Given the description of an element on the screen output the (x, y) to click on. 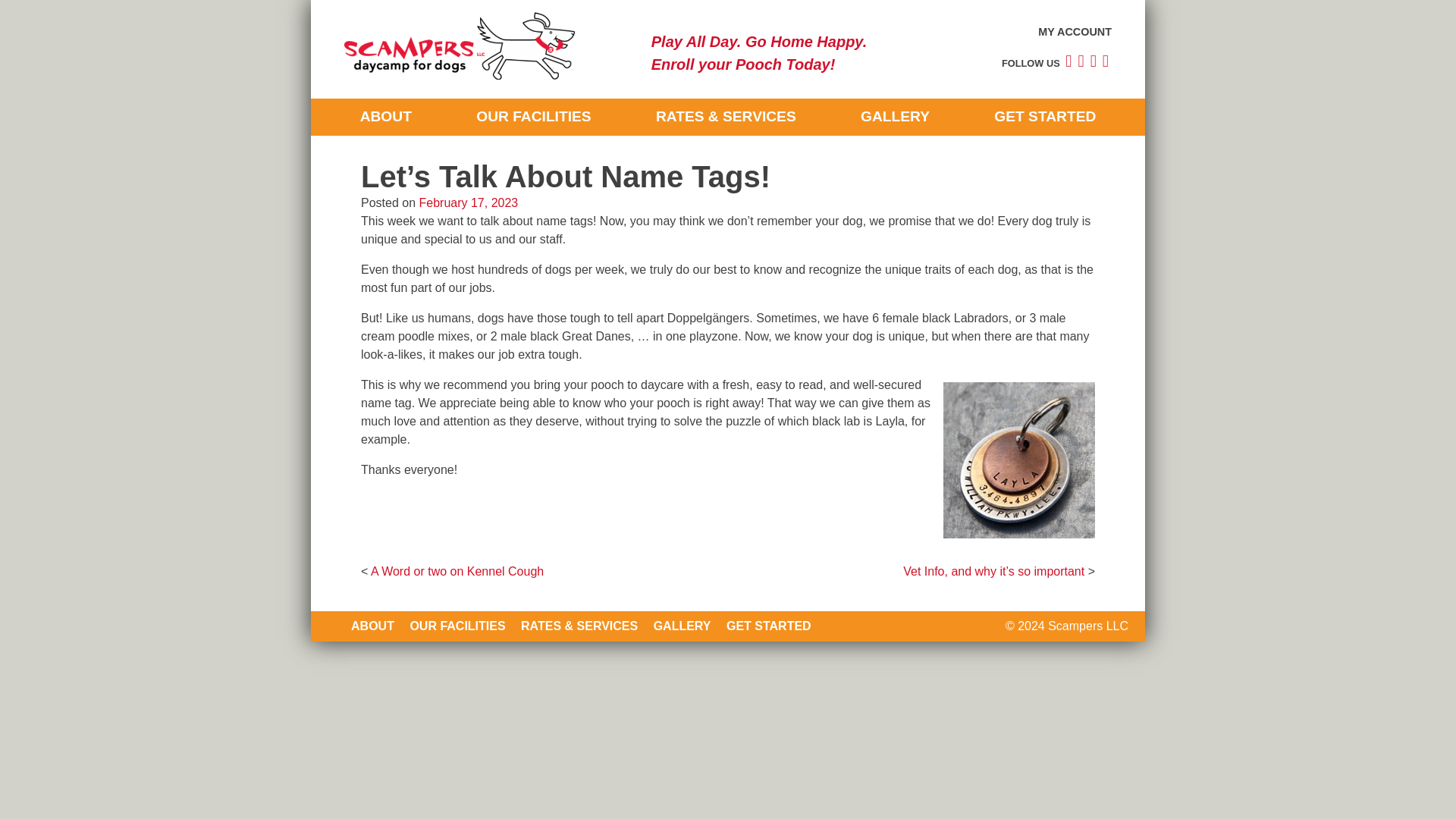
GET STARTED (768, 625)
OUR FACILITIES (533, 116)
February 17, 2023 (468, 202)
Scampers (397, 109)
GALLERY (894, 116)
A Word or two on Kennel Cough (457, 571)
ABOUT (372, 625)
GALLERY (682, 625)
OUR FACILITIES (457, 625)
GET STARTED (1044, 116)
ABOUT (385, 116)
MY ACCOUNT (1075, 31)
